Given the description of an element on the screen output the (x, y) to click on. 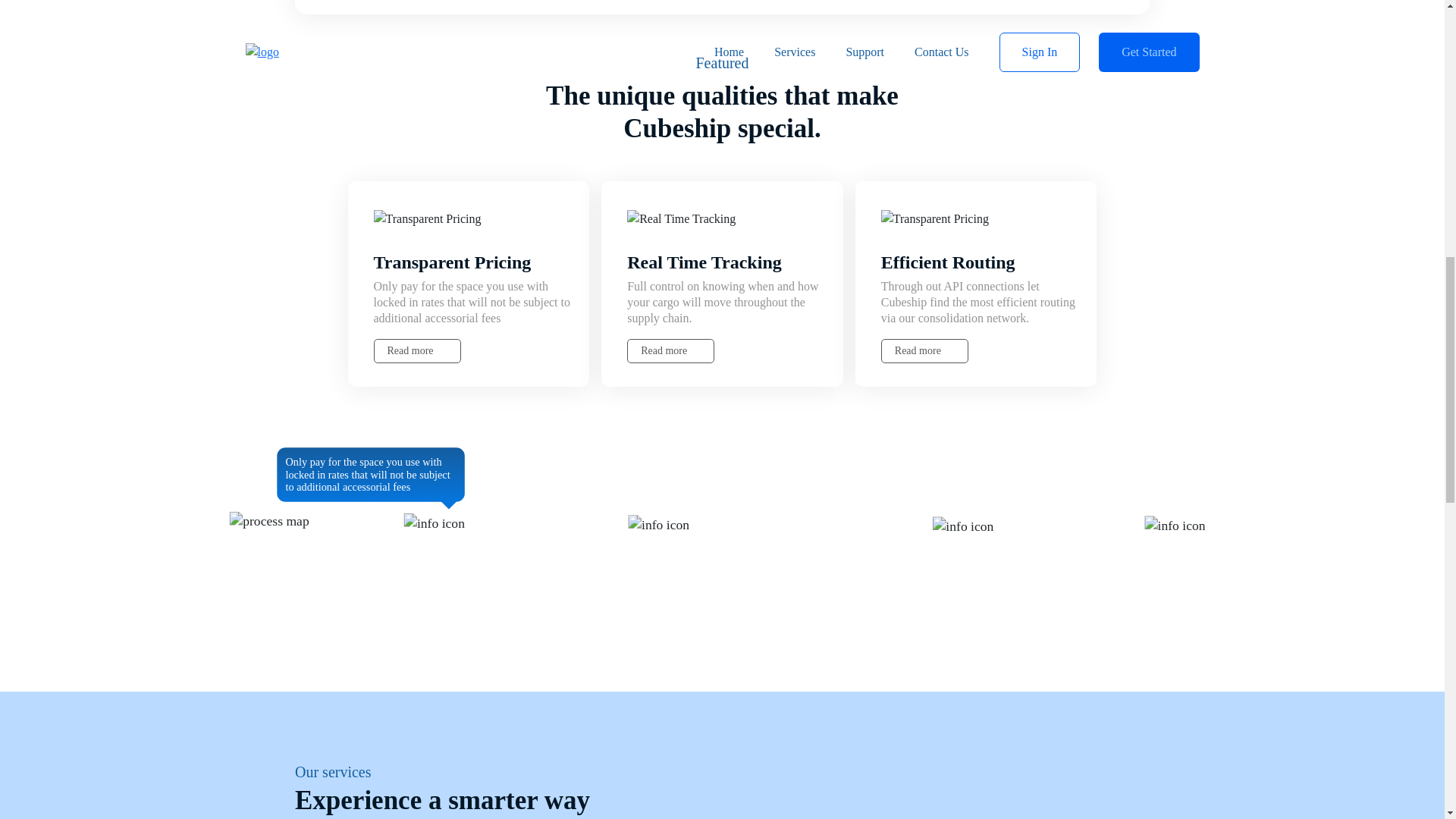
Read more (924, 351)
Read more (670, 351)
Read more (416, 351)
